Given the description of an element on the screen output the (x, y) to click on. 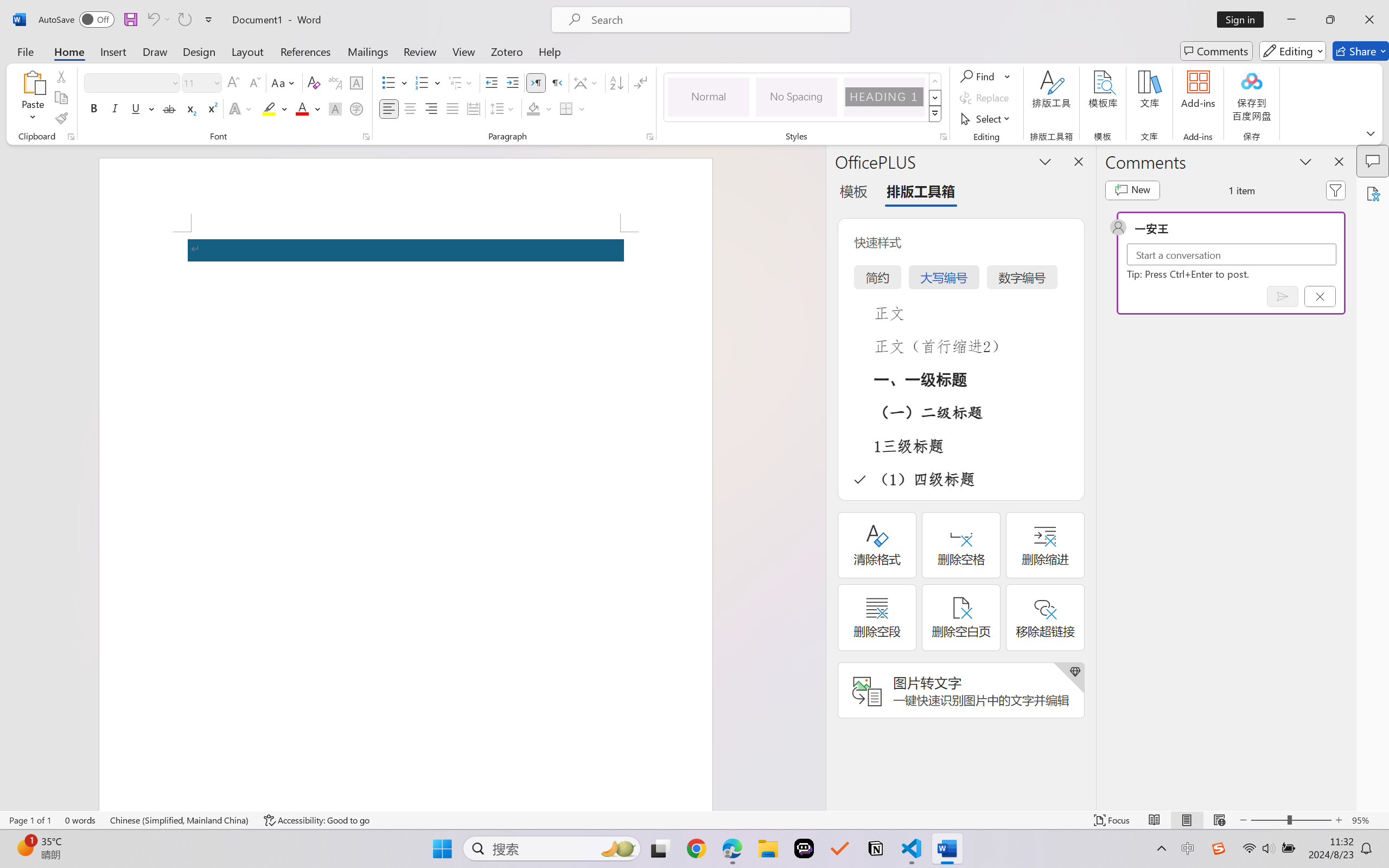
Start a conversation (1231, 254)
